Given the description of an element on the screen output the (x, y) to click on. 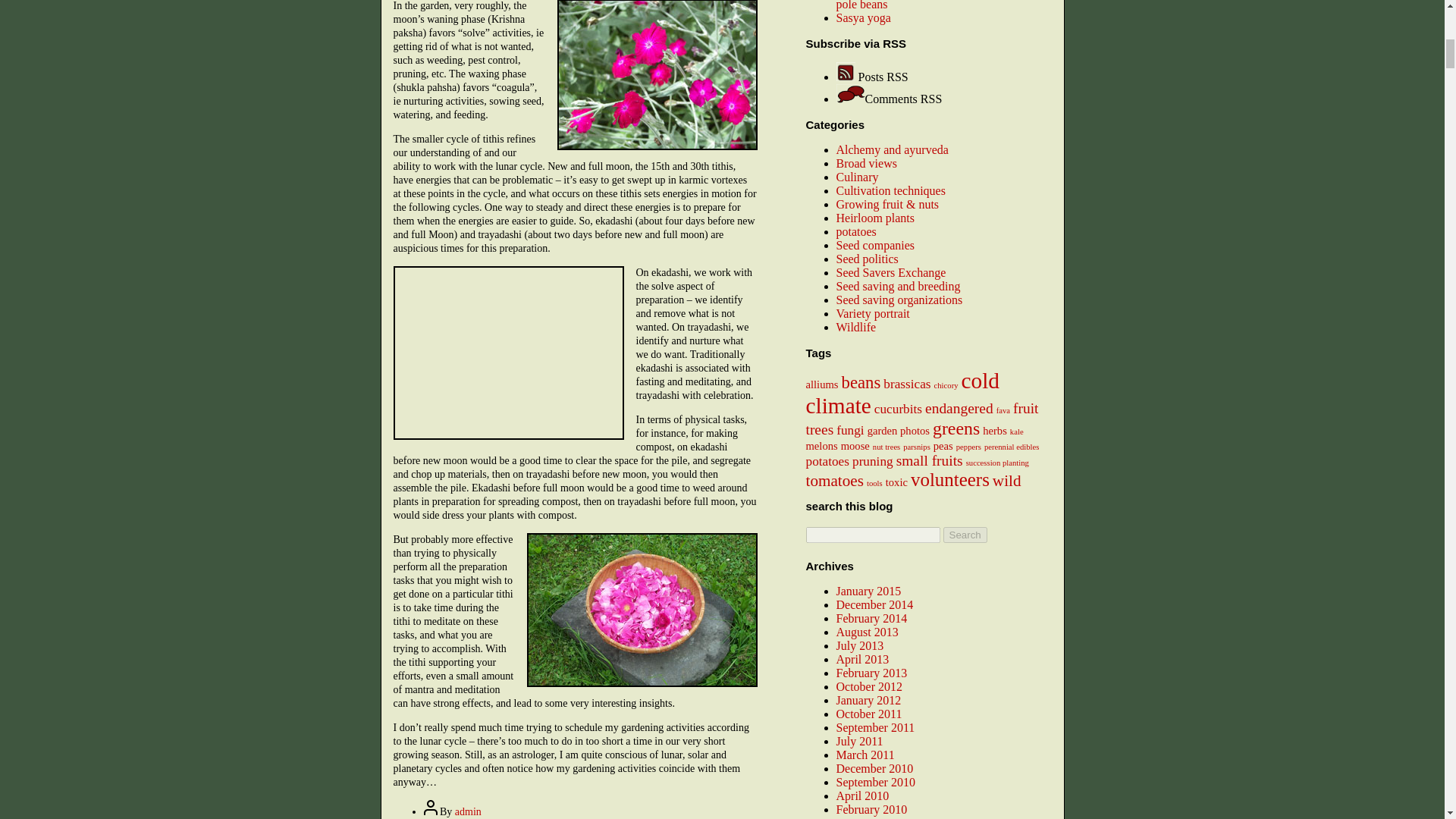
Heirloom plants (874, 216)
brassicas (906, 383)
fava (1002, 410)
fungi (849, 430)
Seed companies (874, 244)
Alchemy and ayurveda (891, 148)
alliums (821, 384)
Cultivation techniques (889, 189)
Broad views (865, 162)
Sasya yoga (862, 16)
